Given the description of an element on the screen output the (x, y) to click on. 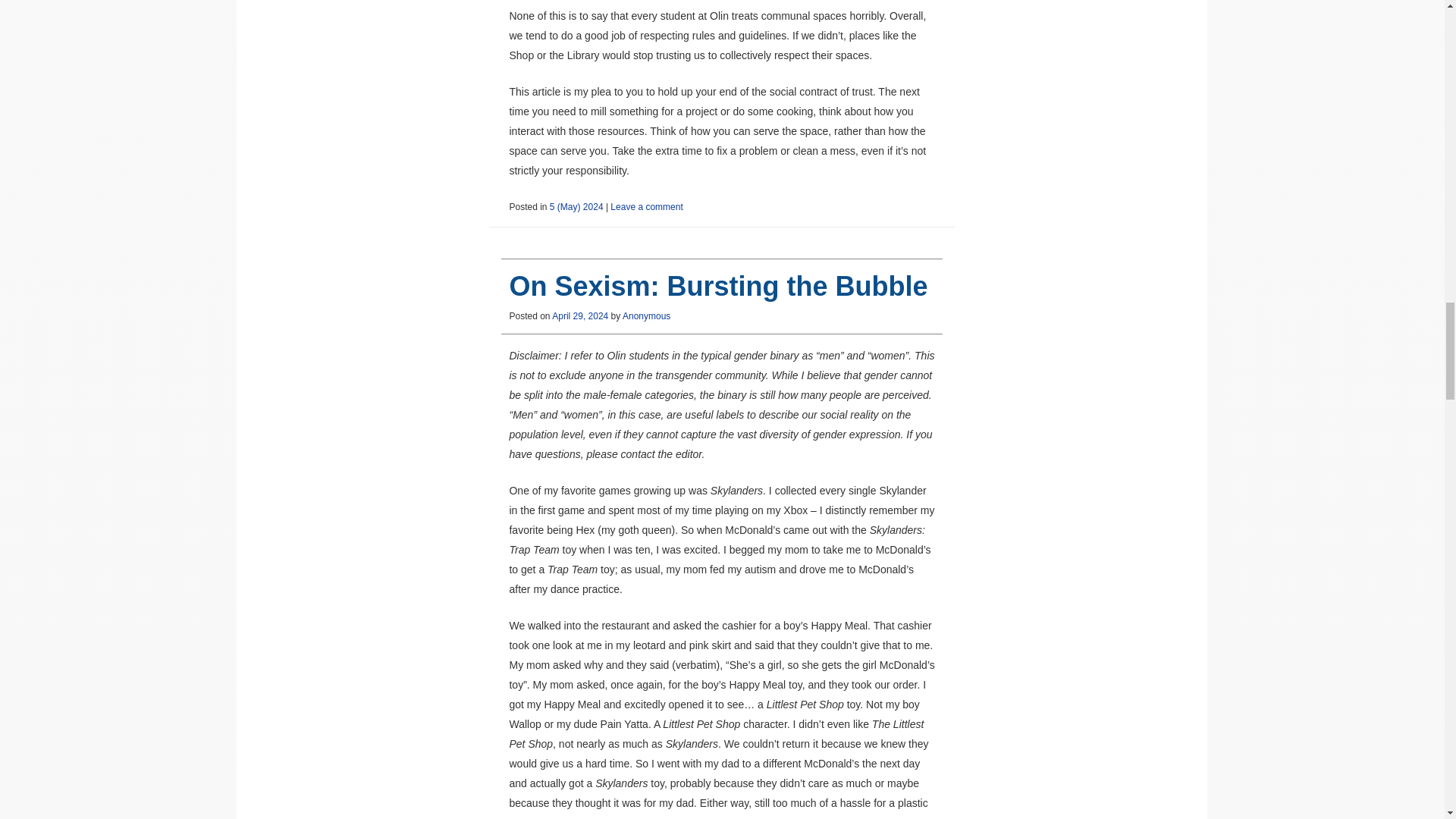
View all posts by Anonymous (646, 316)
Leave a comment (646, 206)
On Sexism: Bursting the Bubble (717, 286)
02:33 (579, 316)
April 29, 2024 (579, 316)
Anonymous (646, 316)
